Given the description of an element on the screen output the (x, y) to click on. 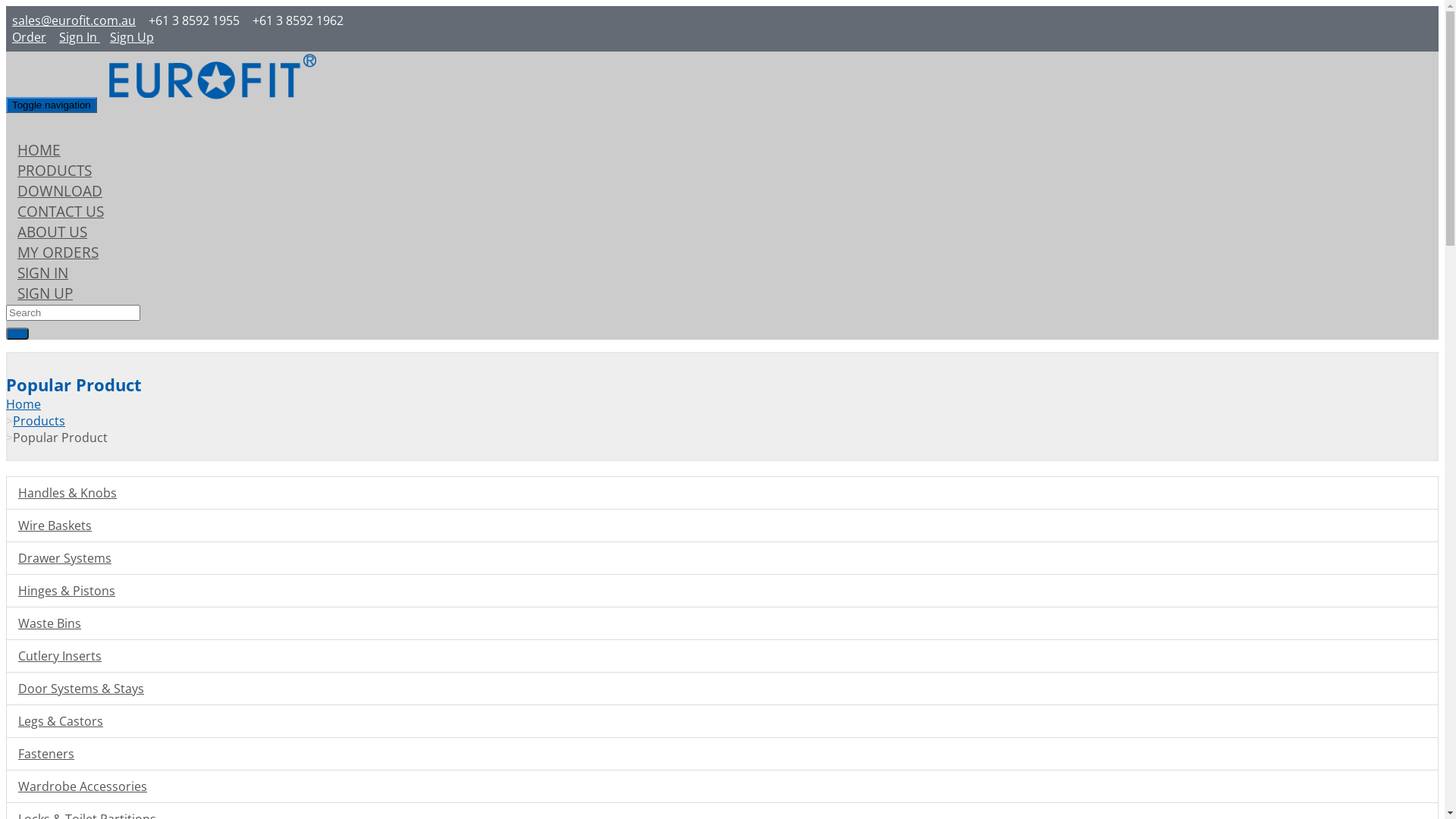
CONTACT US Element type: text (60, 211)
Hinges & Pistons Element type: text (722, 590)
Wire Baskets Element type: text (722, 525)
Sign In Element type: text (78, 36)
Products Element type: text (38, 420)
DOWNLOAD Element type: text (59, 190)
sales@eurofit.com.au Element type: text (73, 20)
Legs & Castors Element type: text (722, 720)
Handles & Knobs Element type: text (722, 492)
HOME Element type: text (39, 149)
Wardrobe Accessories Element type: text (722, 786)
ABOUT US Element type: text (52, 231)
SIGN UP Element type: text (45, 293)
Fasteners Element type: text (722, 753)
Home Element type: text (23, 403)
Cutlery Inserts Element type: text (722, 655)
Order Element type: text (27, 36)
Sign Up Element type: text (130, 36)
MY ORDERS Element type: text (57, 252)
PRODUCTS Element type: text (54, 170)
Toggle navigation Element type: text (51, 104)
Door Systems & Stays Element type: text (722, 688)
SIGN IN Element type: text (42, 272)
Drawer Systems Element type: text (722, 557)
Waste Bins Element type: text (722, 623)
